Given the description of an element on the screen output the (x, y) to click on. 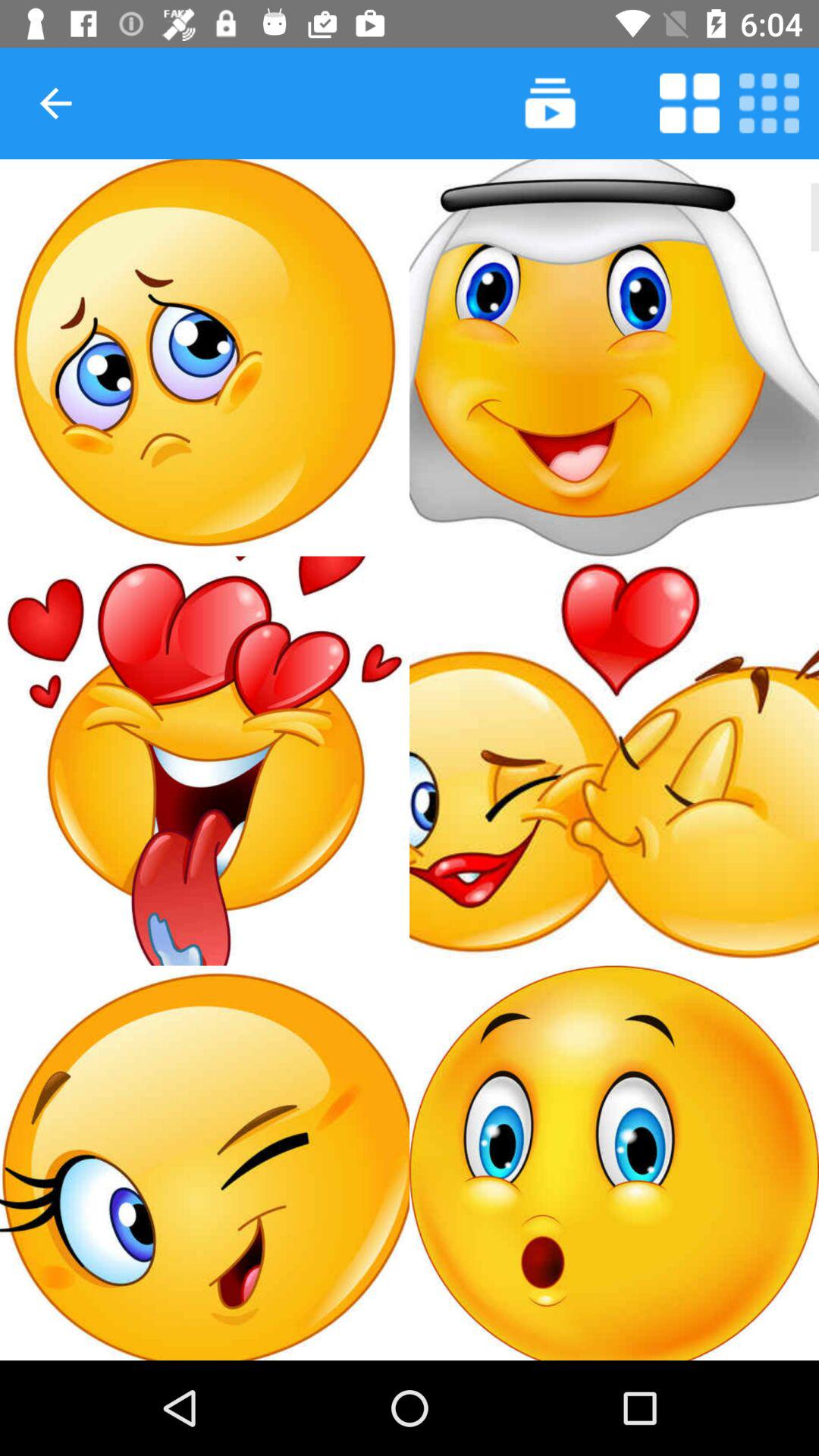
view smaller thumbnails (769, 103)
